Given the description of an element on the screen output the (x, y) to click on. 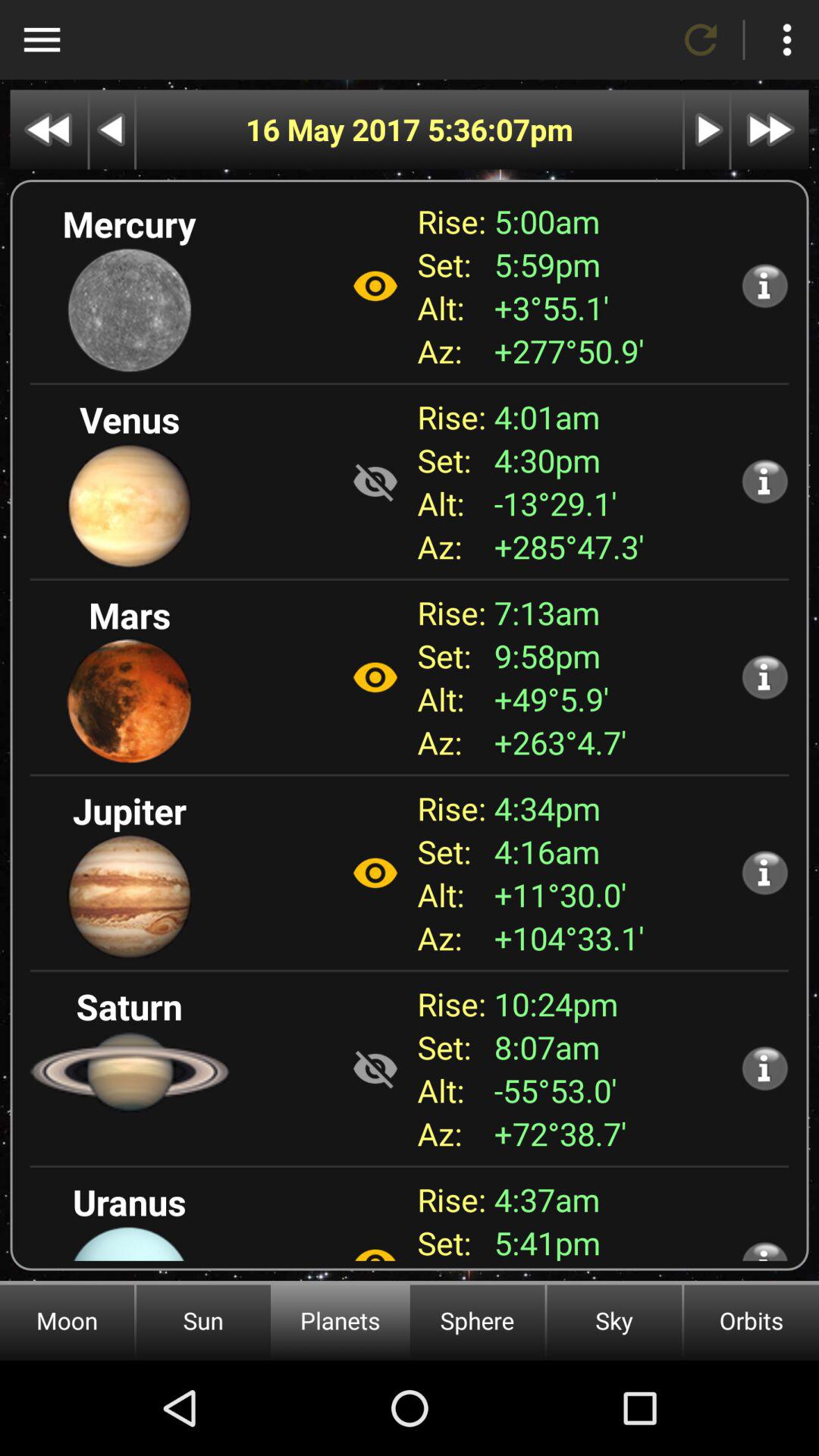
refresh page (700, 39)
